Given the description of an element on the screen output the (x, y) to click on. 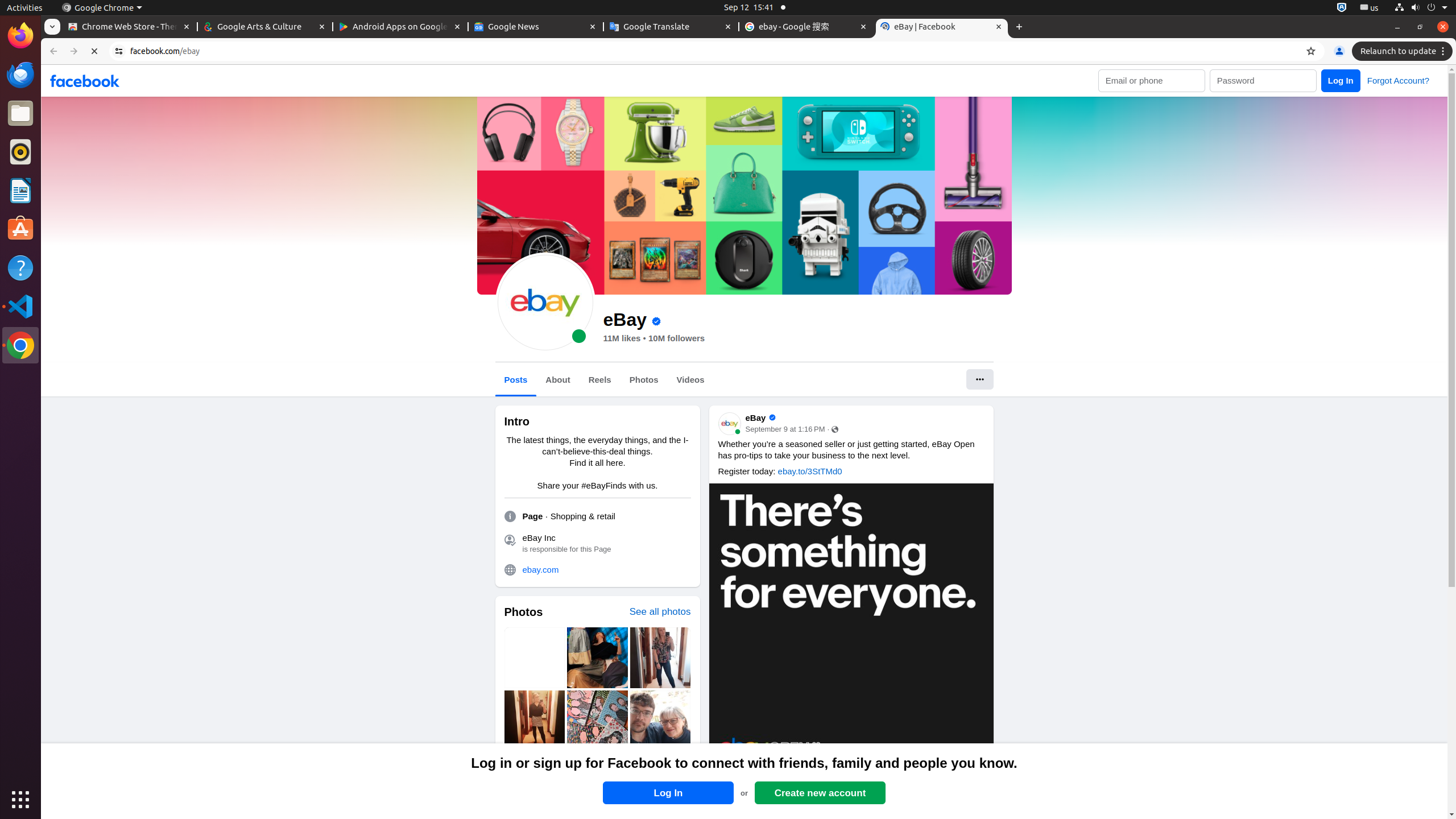
See options Element type: push-button (979, 379)
Back Element type: push-button (51, 50)
Like Element type: push-button (783, 802)
Log In Element type: push-button (1340, 80)
Visual Studio Code Element type: push-button (20, 306)
